Given the description of an element on the screen output the (x, y) to click on. 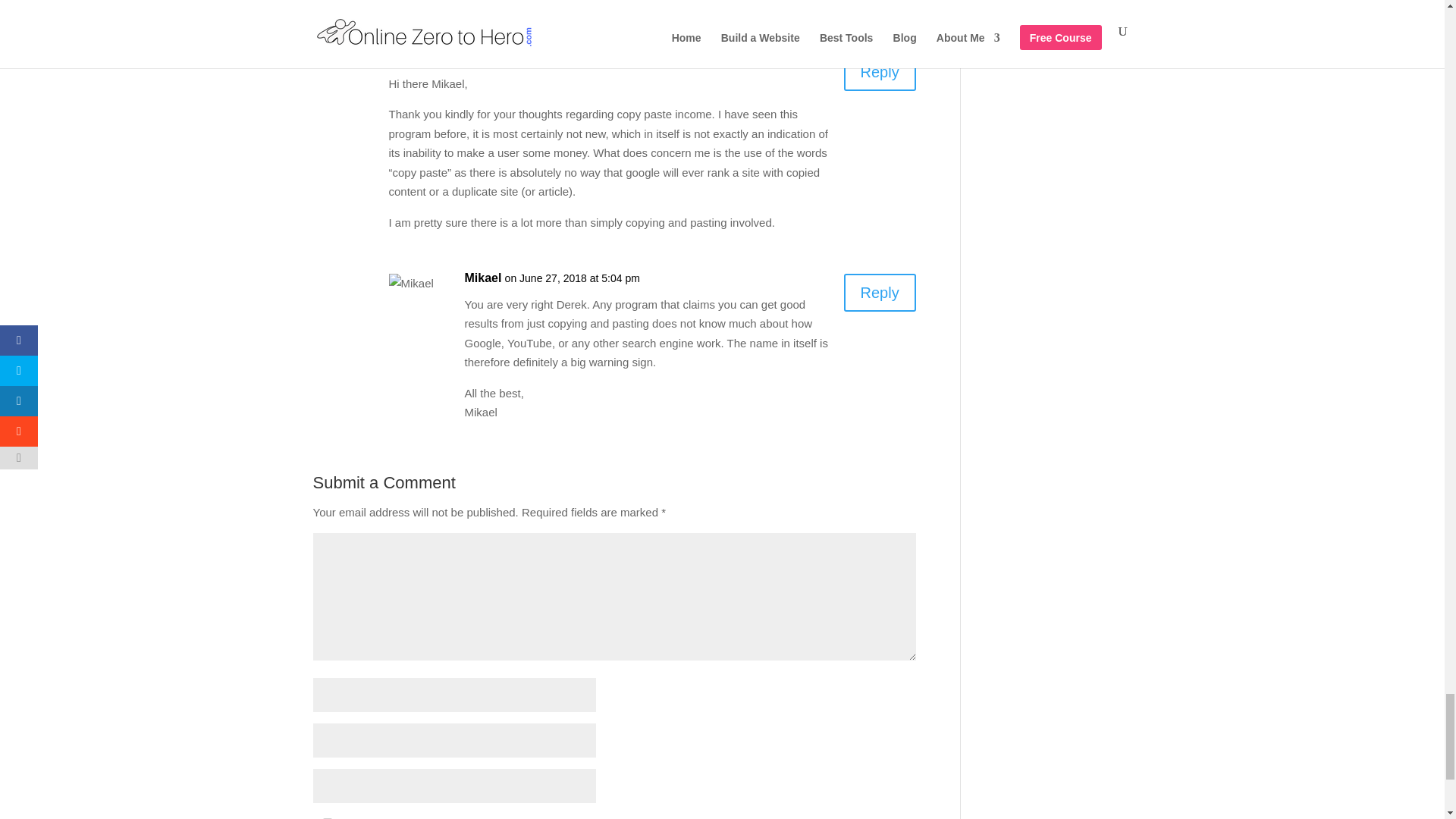
Reply (879, 71)
privacy policy (844, 818)
Reply (879, 292)
